Given the description of an element on the screen output the (x, y) to click on. 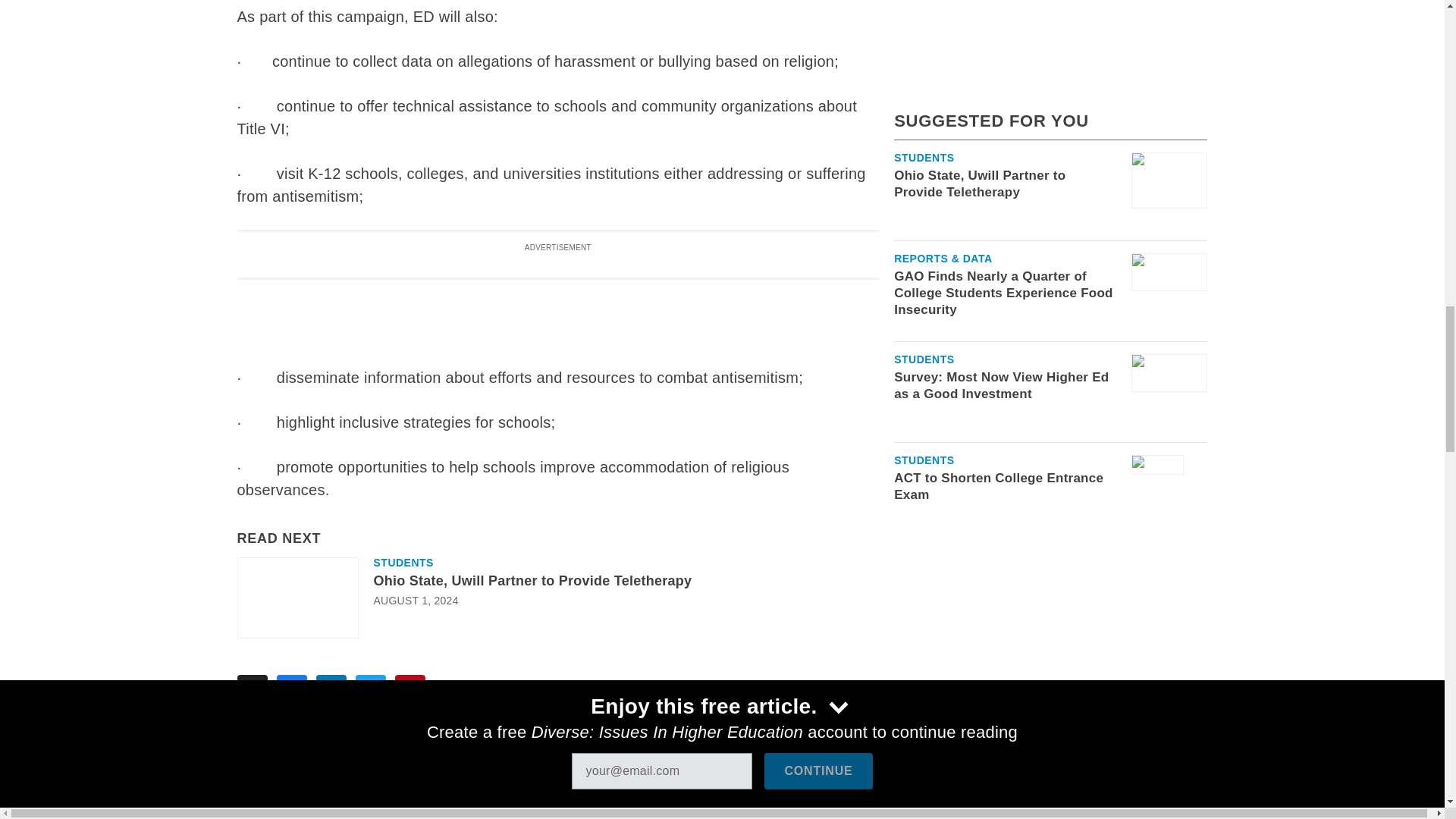
Share To facebook (290, 689)
Students (402, 562)
Share To print (250, 689)
